Given the description of an element on the screen output the (x, y) to click on. 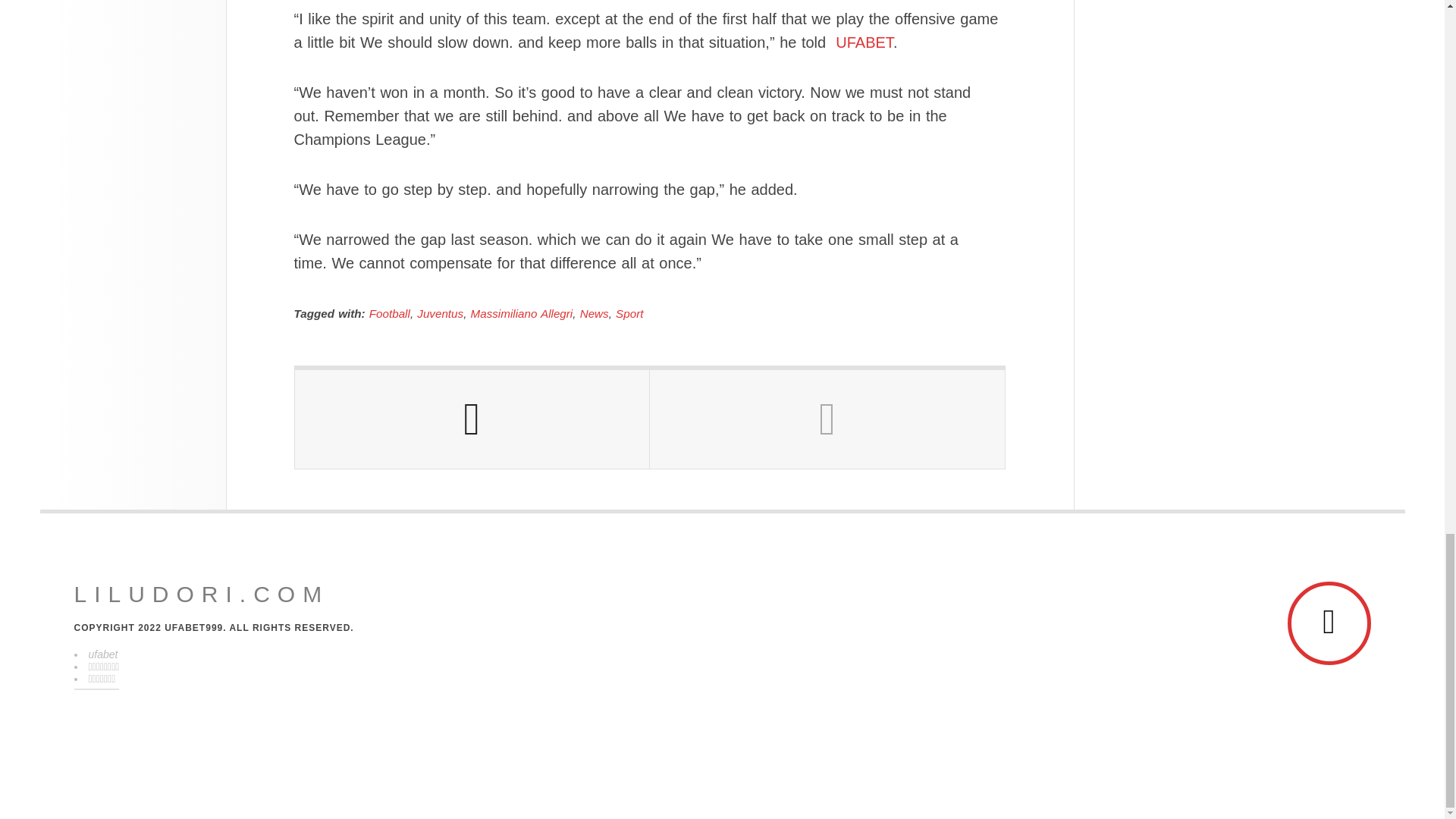
Previous Post (471, 419)
News (593, 313)
LILUDORI.COM (202, 594)
Sport (629, 313)
Football (389, 313)
UFABET (864, 42)
Massimiliano Allegri (521, 313)
liludori.com (202, 594)
Juventus (439, 313)
